Given the description of an element on the screen output the (x, y) to click on. 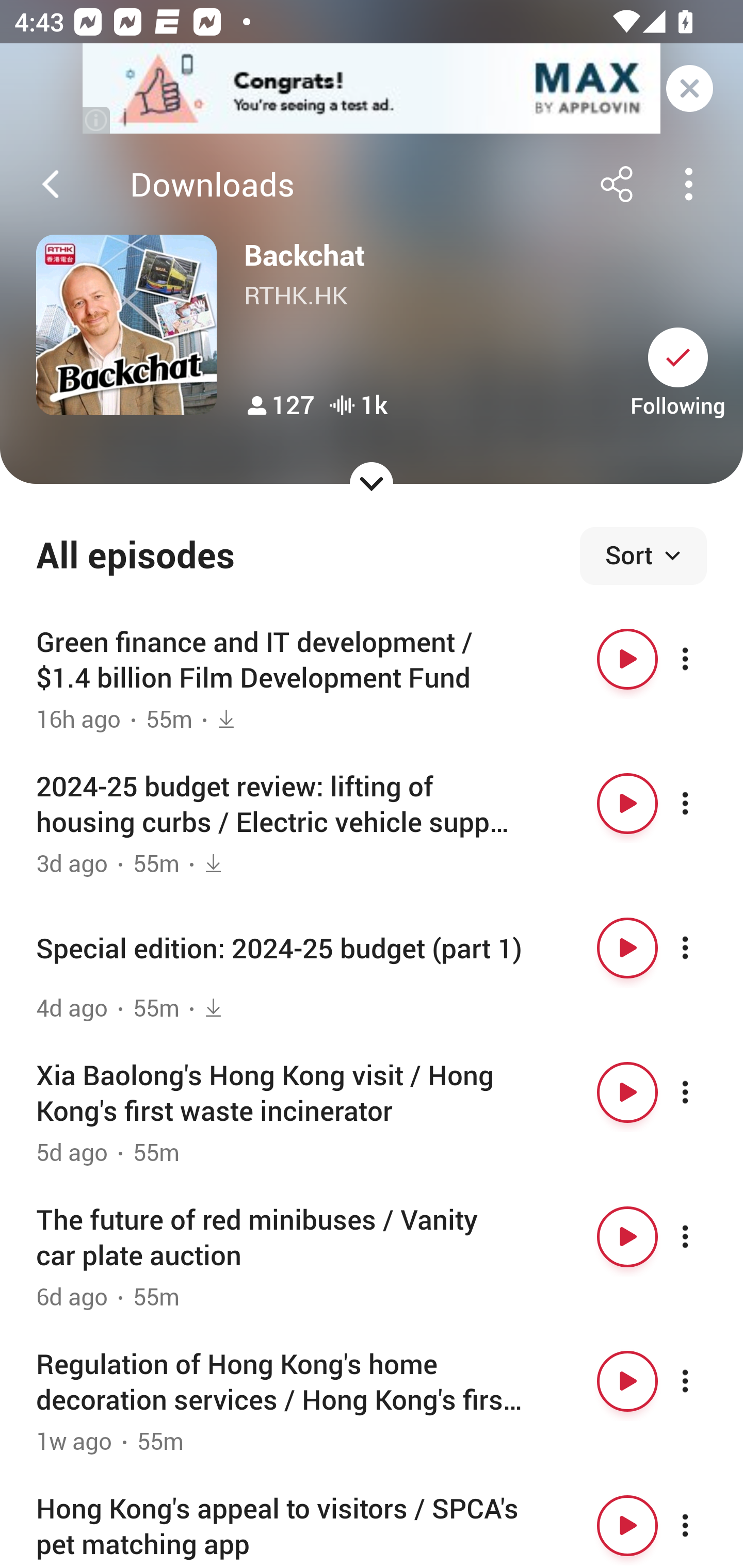
app-monetization (371, 88)
(i) (96, 119)
Back (50, 184)
Unsubscribe button (677, 357)
Sort episodes Sort (643, 555)
Play button (627, 659)
More options (703, 659)
Play button (627, 803)
More options (703, 803)
Play button (627, 947)
More options (703, 947)
Play button (627, 1092)
More options (703, 1092)
Play button (627, 1236)
More options (703, 1236)
Play button (627, 1381)
More options (703, 1381)
Play button (627, 1525)
More options (703, 1525)
